Given the description of an element on the screen output the (x, y) to click on. 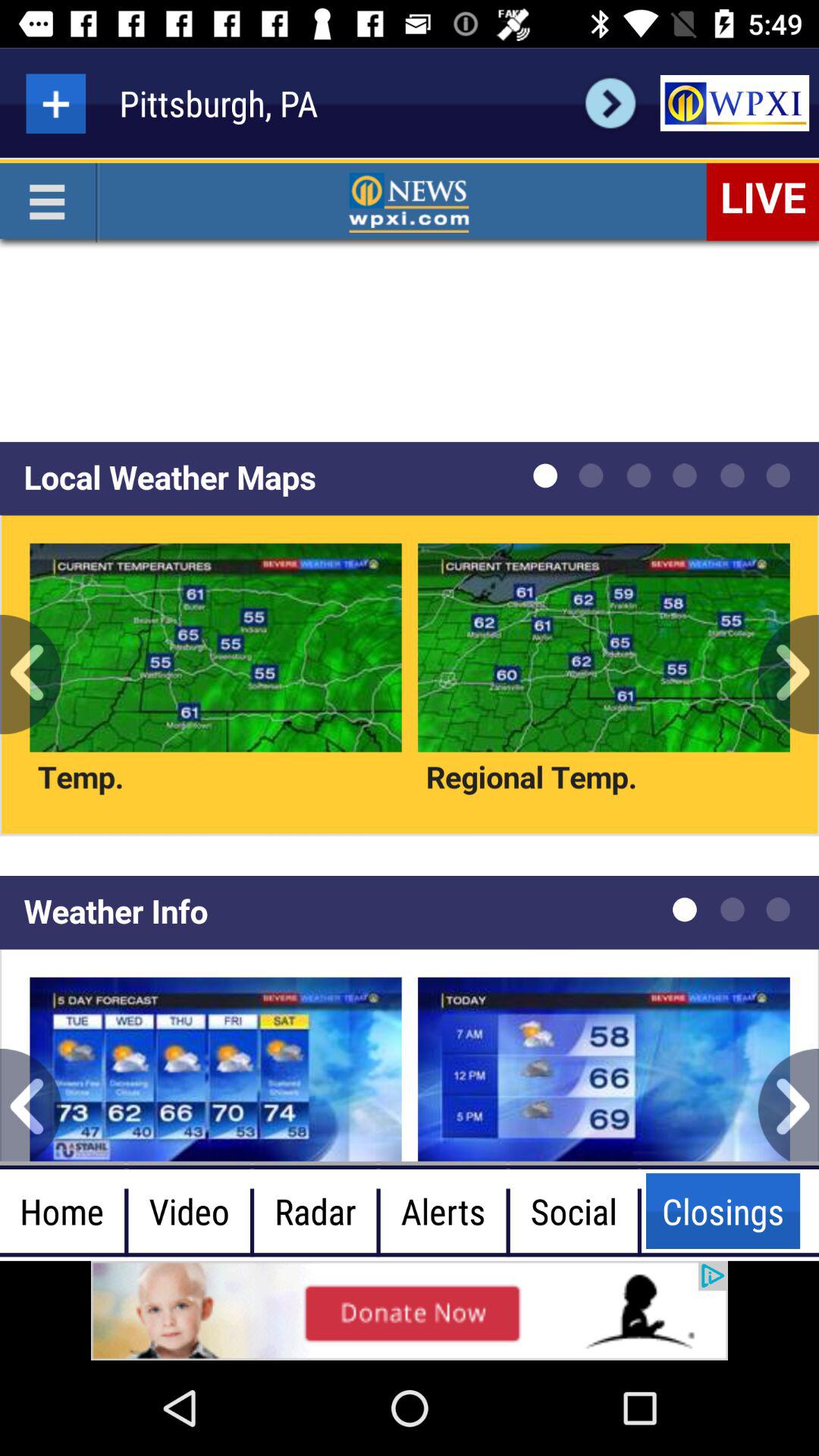
click to the next page (610, 103)
